Given the description of an element on the screen output the (x, y) to click on. 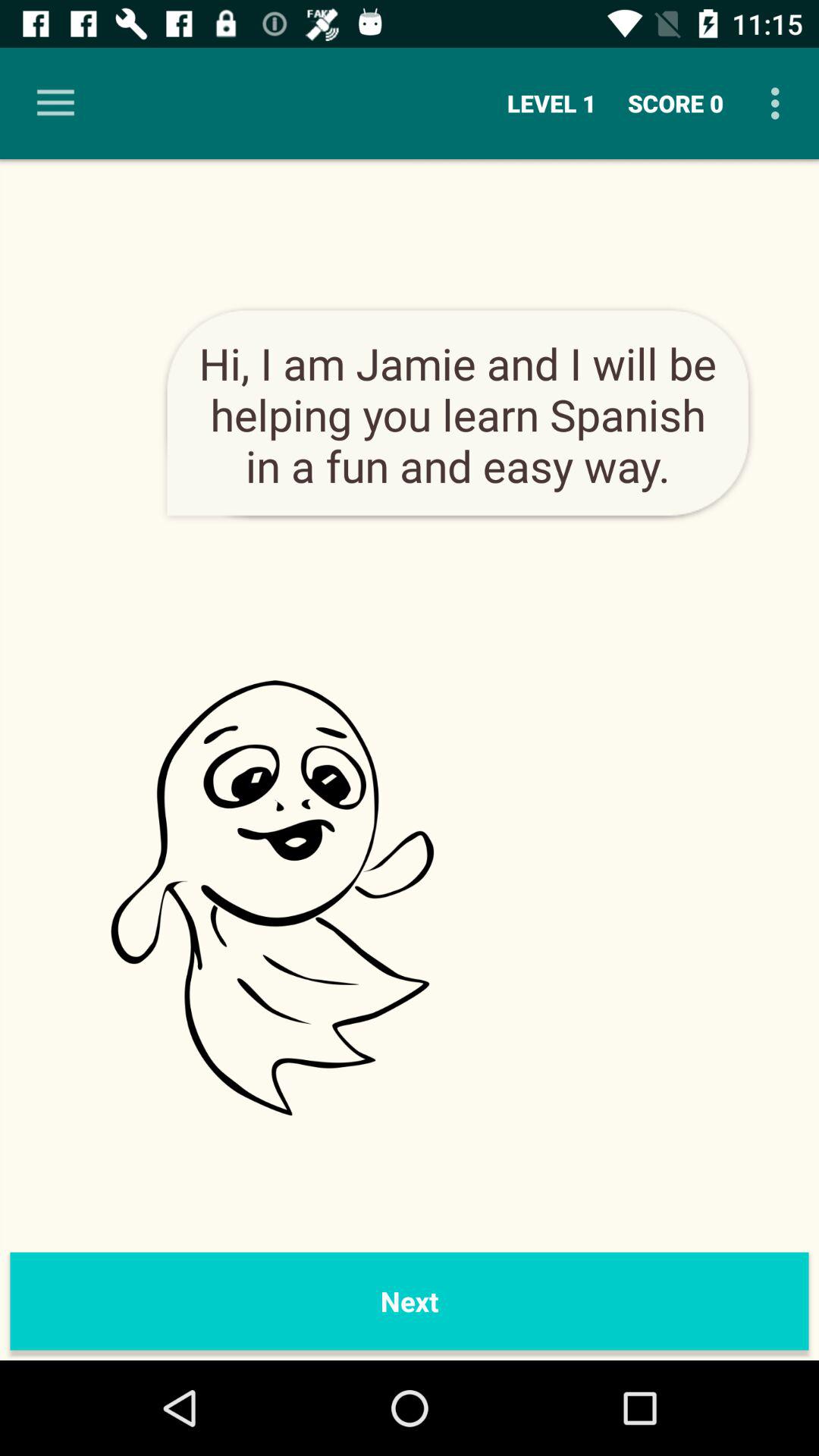
turn off item next to the score 0 icon (551, 103)
